Given the description of an element on the screen output the (x, y) to click on. 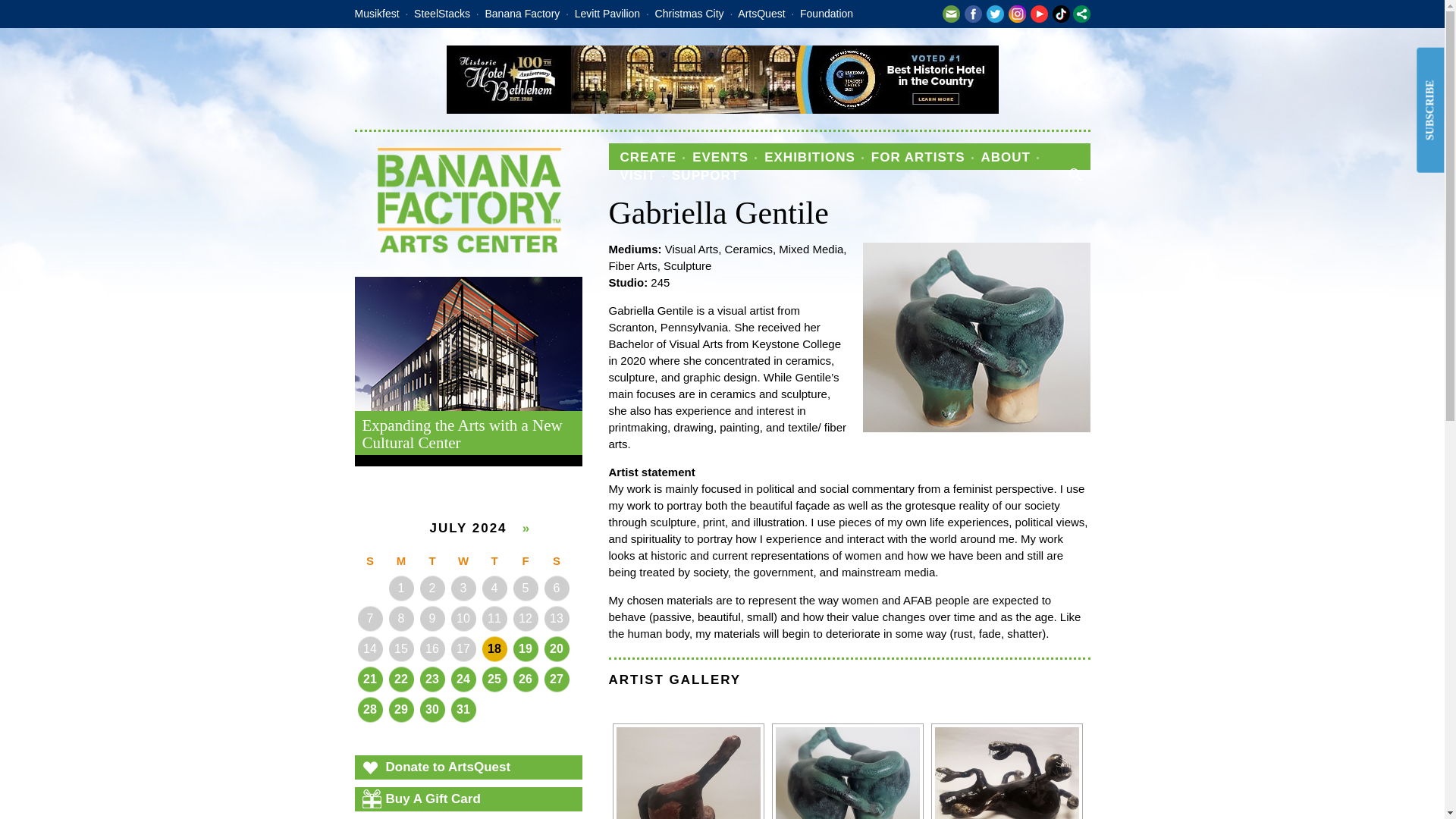
click to view events (556, 648)
click to view events (524, 648)
Expanding the Arts with a New Cultural Center (468, 371)
SteelStacks (441, 13)
Levitt Pavilion (607, 13)
18 (495, 648)
ArtsQuest (761, 13)
Christmas City (689, 13)
Banana Factory (521, 13)
click to view events (495, 648)
Musikfest (376, 13)
Foundation (826, 13)
